Given the description of an element on the screen output the (x, y) to click on. 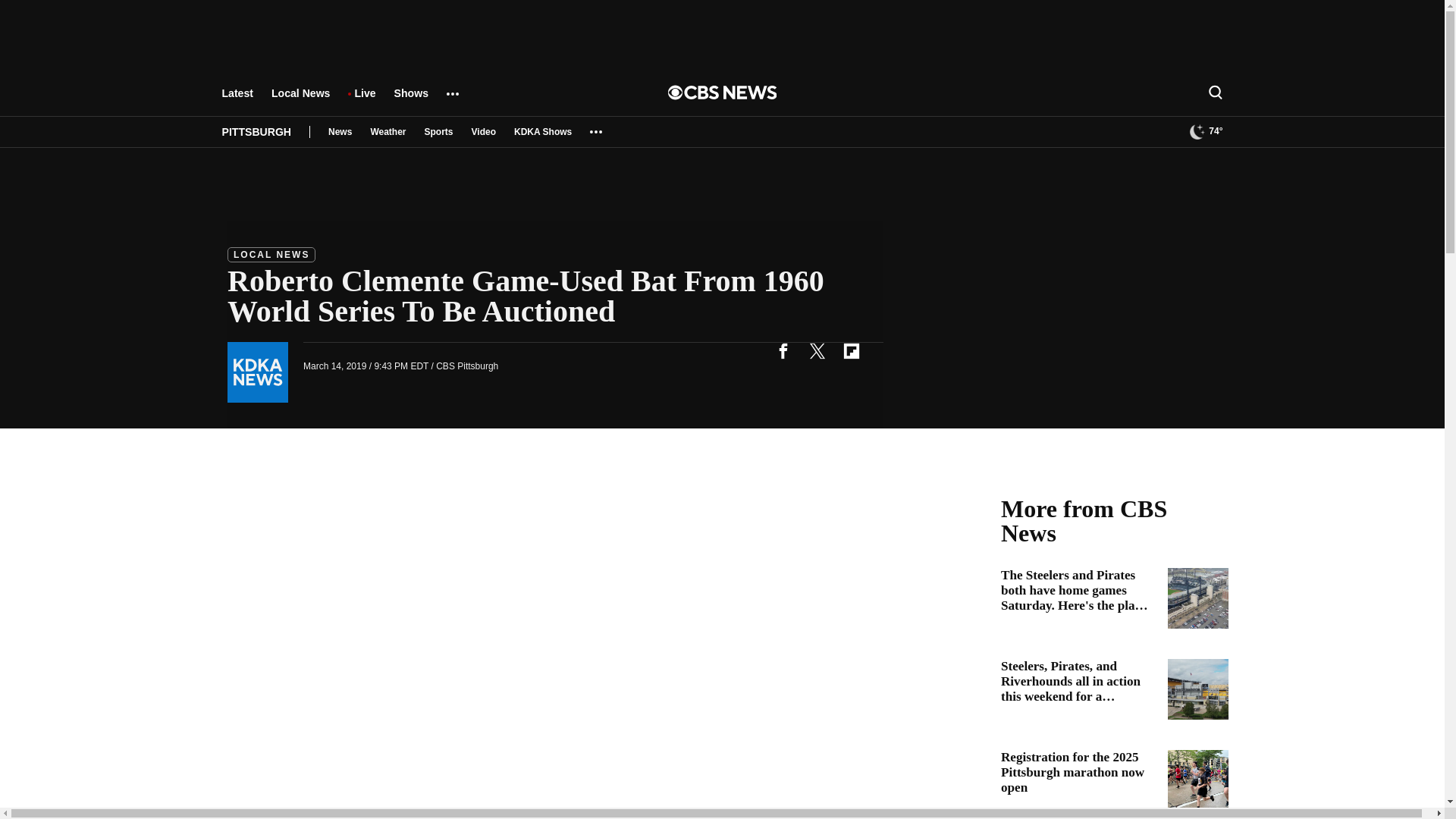
twitter (816, 350)
Local News (300, 100)
Latest (236, 100)
flipboard (850, 350)
facebook (782, 350)
